Given the description of an element on the screen output the (x, y) to click on. 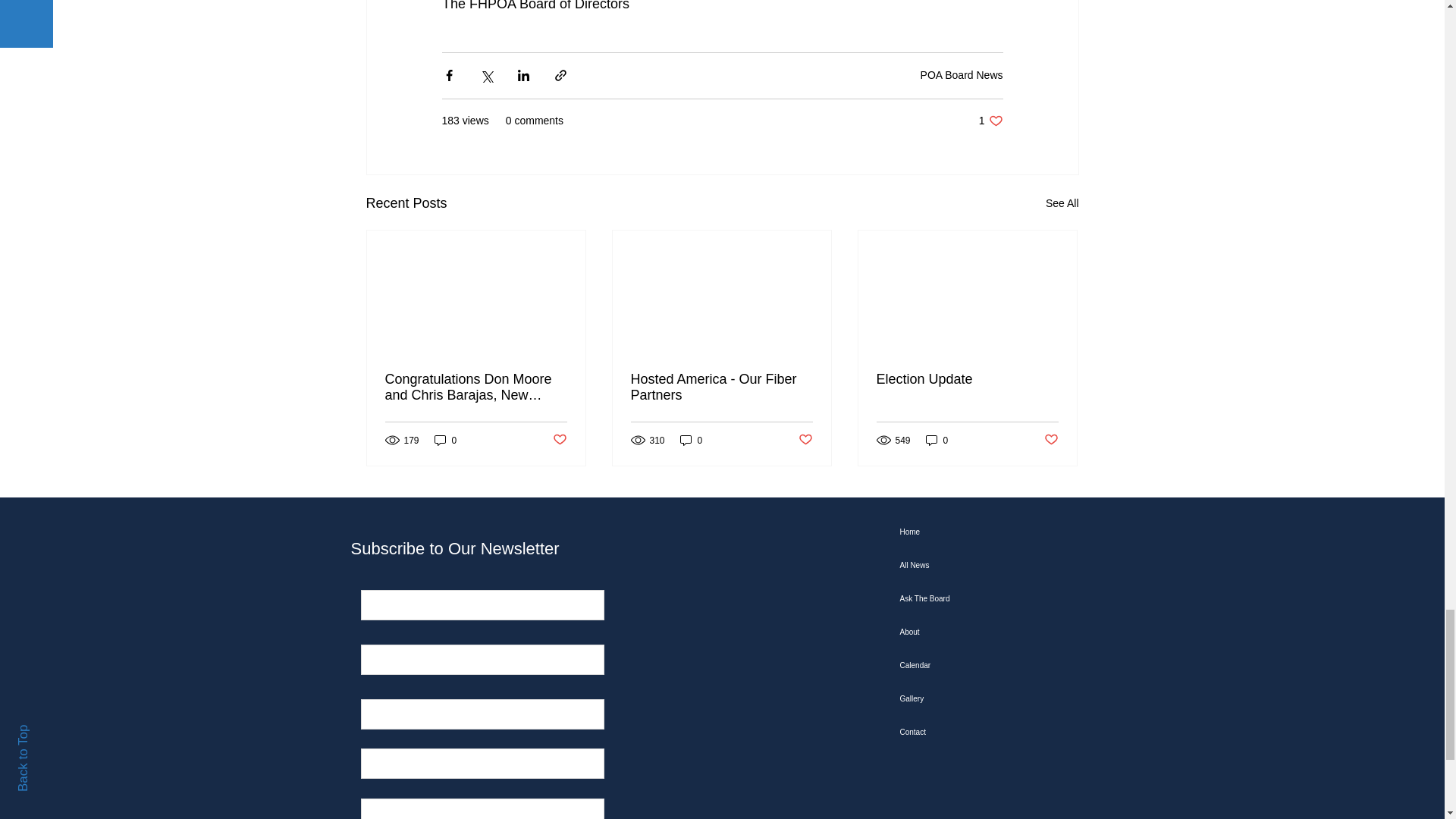
See All (1061, 203)
0 (990, 120)
Post not marked as liked (445, 440)
POA Board News (558, 439)
